Given the description of an element on the screen output the (x, y) to click on. 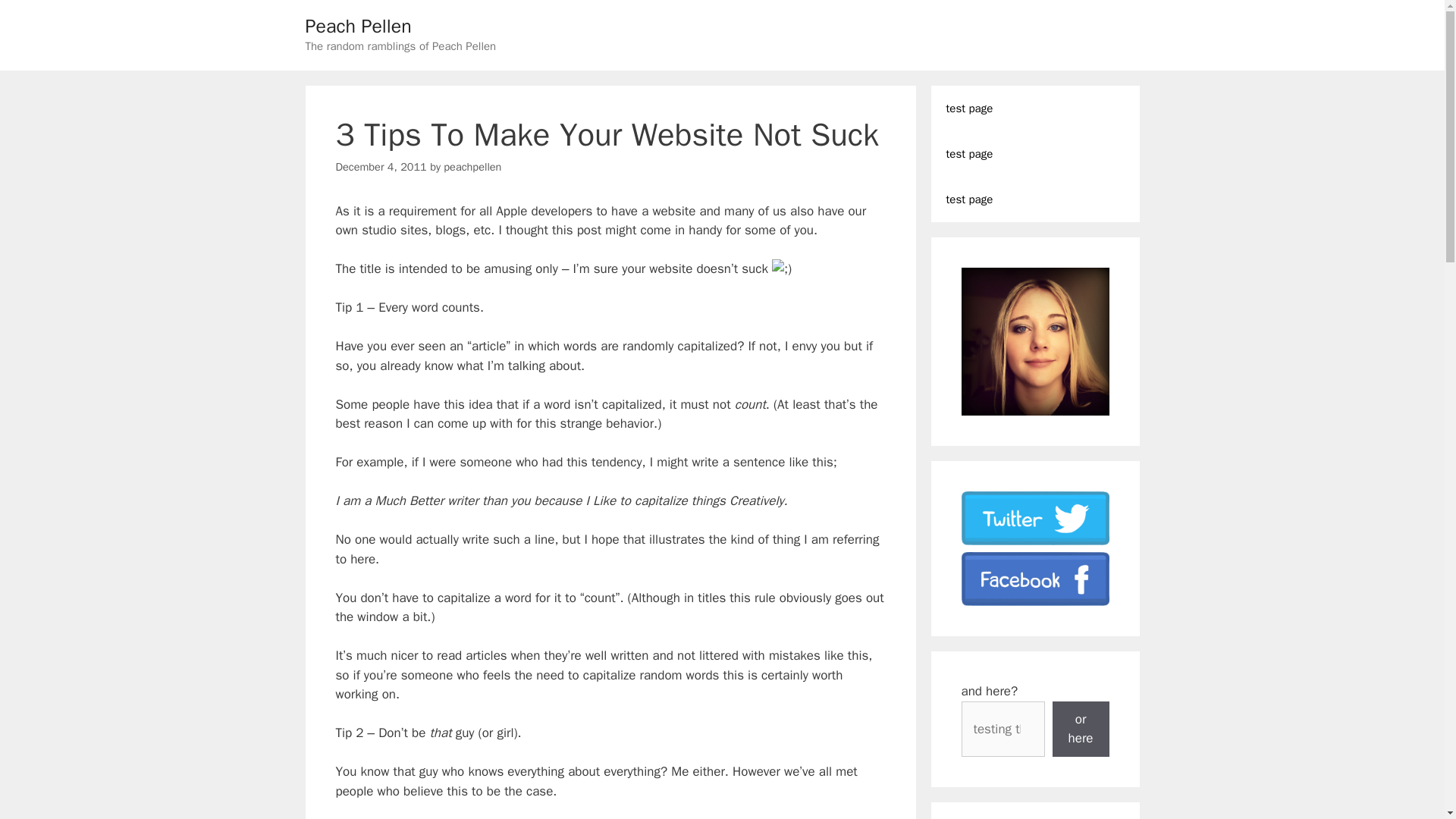
test page (1035, 107)
test page (1035, 153)
View all posts by peachpellen (472, 166)
test page (1035, 198)
peachpellen (472, 166)
Peach Pellen (357, 25)
or here (1080, 728)
